Given the description of an element on the screen output the (x, y) to click on. 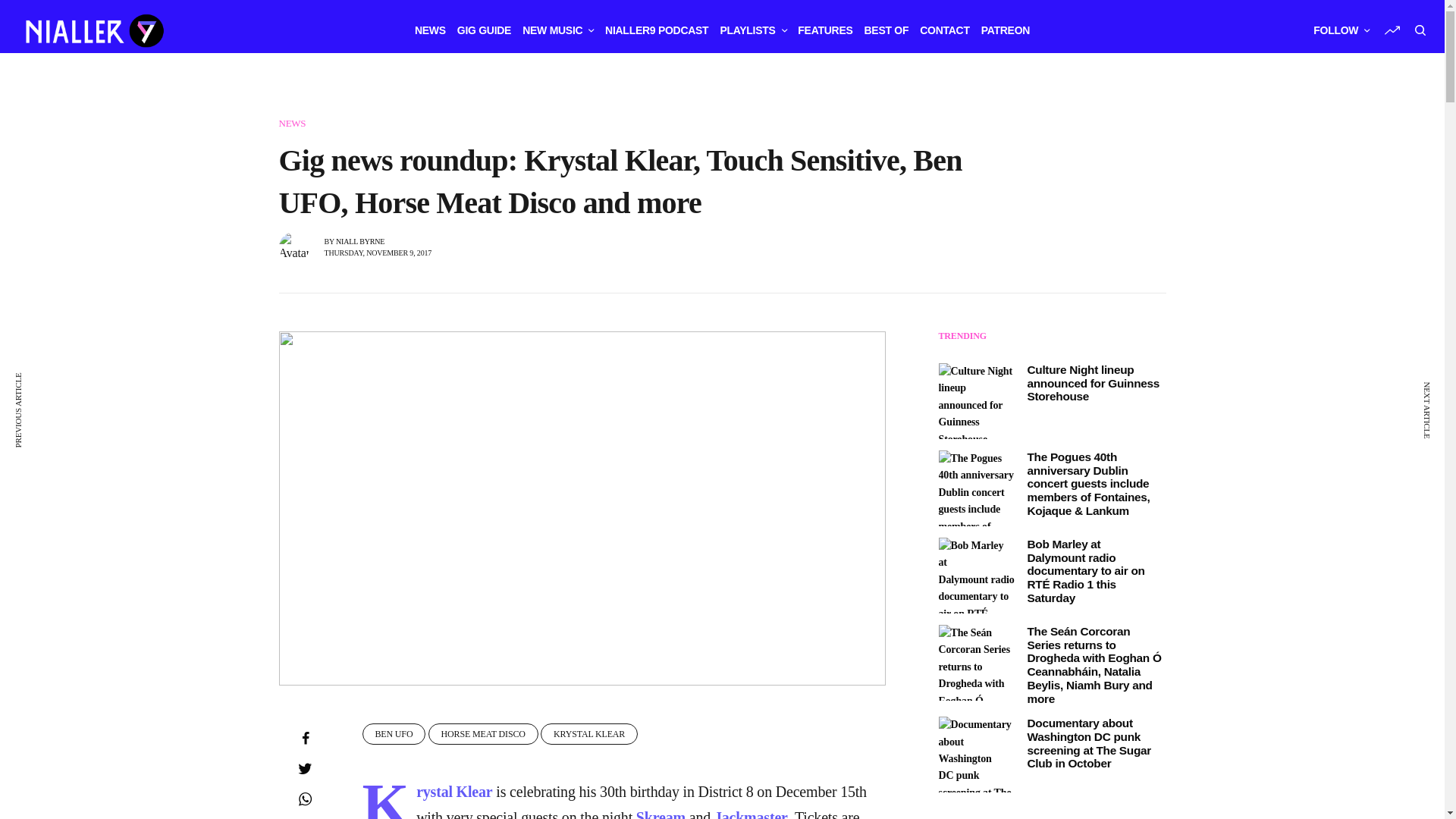
Playlists (752, 30)
Nialler9 (92, 30)
Best Of (886, 30)
